Given the description of an element on the screen output the (x, y) to click on. 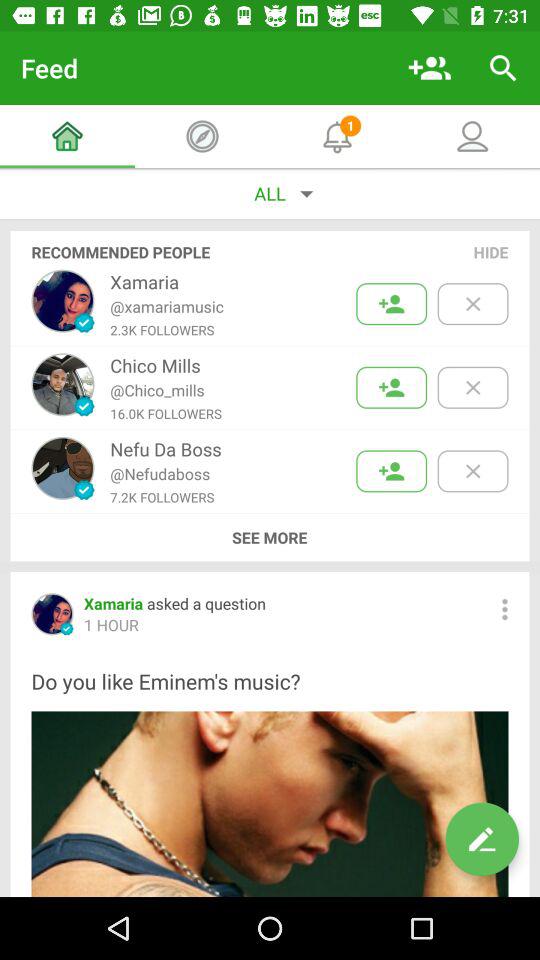
add friend (391, 303)
